Given the description of an element on the screen output the (x, y) to click on. 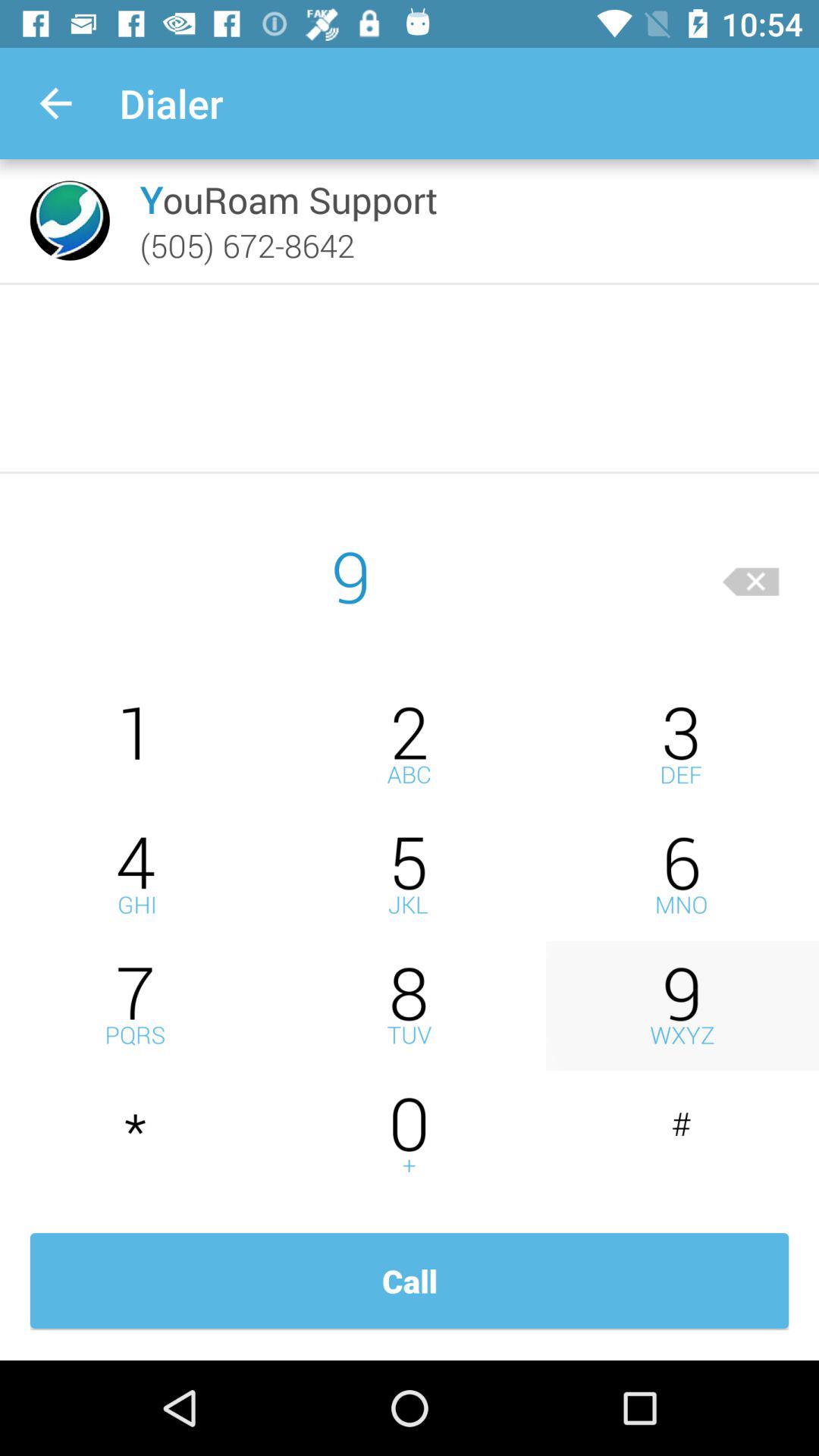
select number 5 (409, 875)
